Given the description of an element on the screen output the (x, y) to click on. 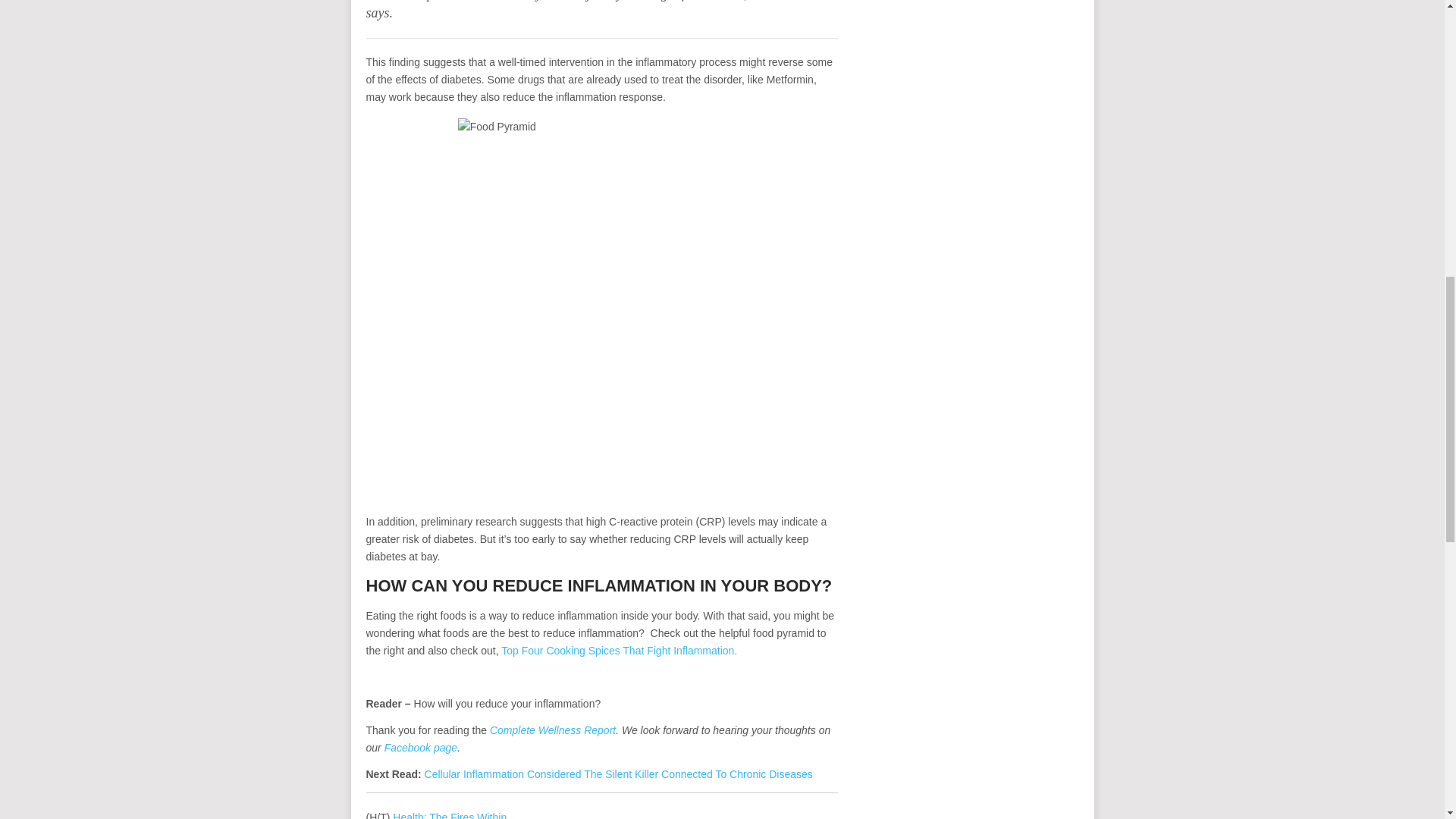
Facebook page (421, 747)
Complete Wellness Report (552, 729)
Top Four Cooking Spices That Fight Inflammation. (618, 650)
Health: The Fires Within (449, 815)
